Given the description of an element on the screen output the (x, y) to click on. 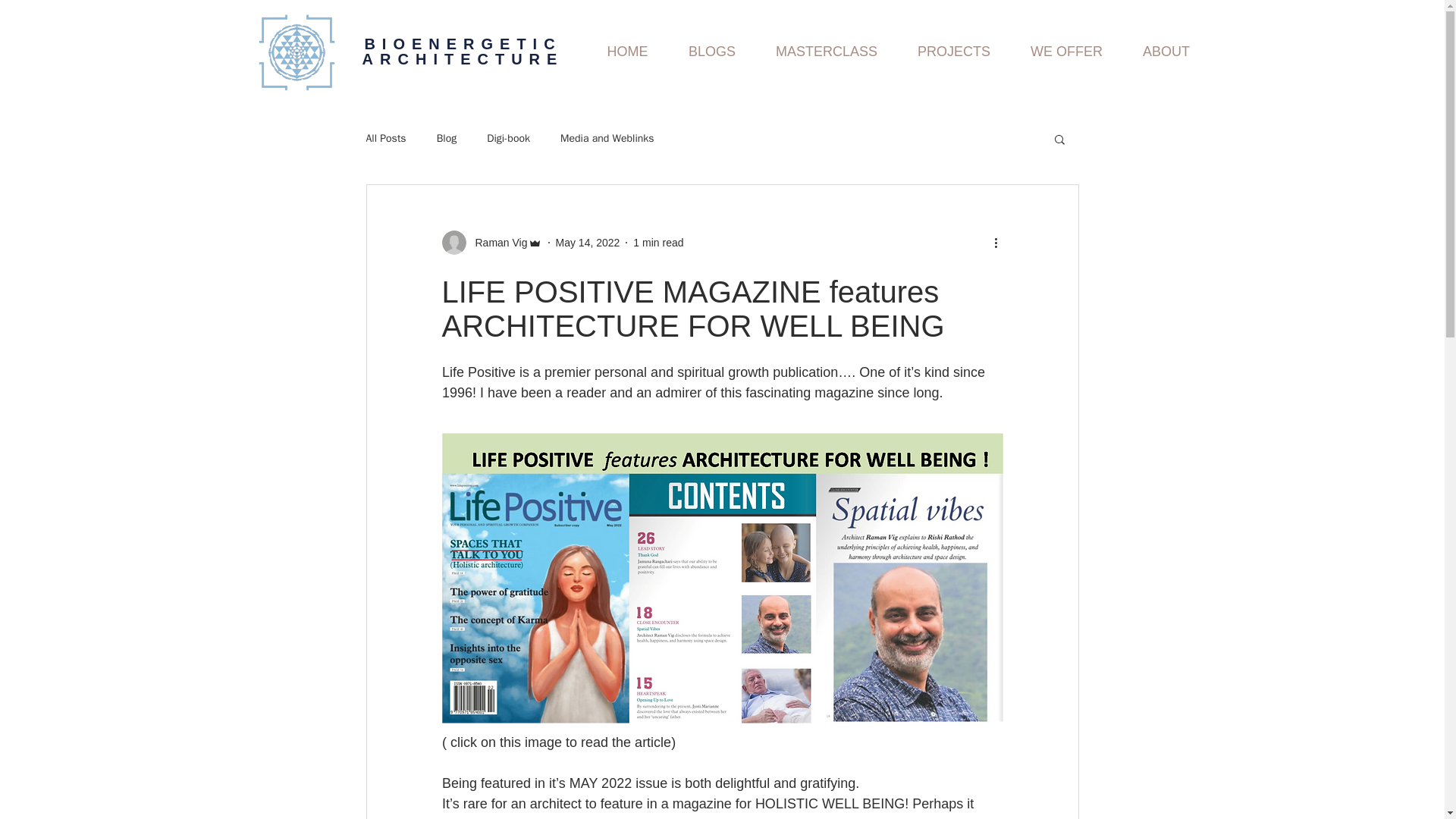
Raman Vig (496, 242)
Raman Vig (491, 242)
Digi-book (507, 138)
All Posts (385, 138)
1 min read (657, 242)
BLOGS (711, 51)
HOME (627, 51)
WE OFFER (1066, 51)
BIOENERGETIC (462, 44)
Blog (446, 138)
